Given the description of an element on the screen output the (x, y) to click on. 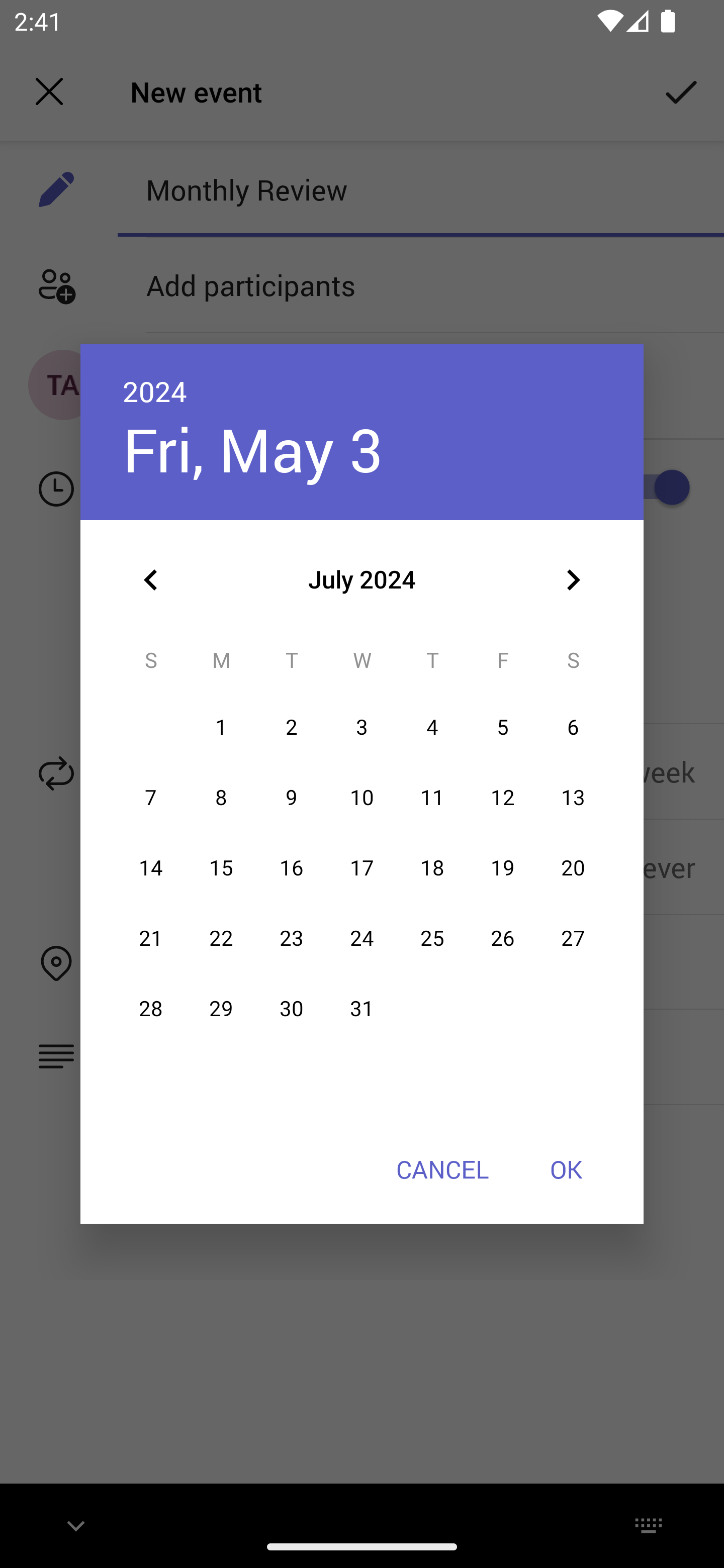
2024 (154, 391)
Fri, May 3 (252, 449)
Previous month (150, 579)
Next month (572, 579)
1 01 July 2024 (221, 728)
2 02 July 2024 (291, 728)
3 03 July 2024 (361, 728)
4 04 July 2024 (432, 728)
5 05 July 2024 (502, 728)
6 06 July 2024 (572, 728)
7 07 July 2024 (150, 797)
8 08 July 2024 (221, 797)
9 09 July 2024 (291, 797)
10 10 July 2024 (361, 797)
11 11 July 2024 (432, 797)
12 12 July 2024 (502, 797)
13 13 July 2024 (572, 797)
14 14 July 2024 (150, 867)
15 15 July 2024 (221, 867)
16 16 July 2024 (291, 867)
17 17 July 2024 (361, 867)
18 18 July 2024 (432, 867)
19 19 July 2024 (502, 867)
20 20 July 2024 (572, 867)
21 21 July 2024 (150, 938)
22 22 July 2024 (221, 938)
23 23 July 2024 (291, 938)
24 24 July 2024 (361, 938)
25 25 July 2024 (432, 938)
26 26 July 2024 (502, 938)
27 27 July 2024 (572, 938)
28 28 July 2024 (150, 1008)
29 29 July 2024 (221, 1008)
30 30 July 2024 (291, 1008)
31 31 July 2024 (361, 1008)
CANCEL (442, 1168)
OK (565, 1168)
